Given the description of an element on the screen output the (x, y) to click on. 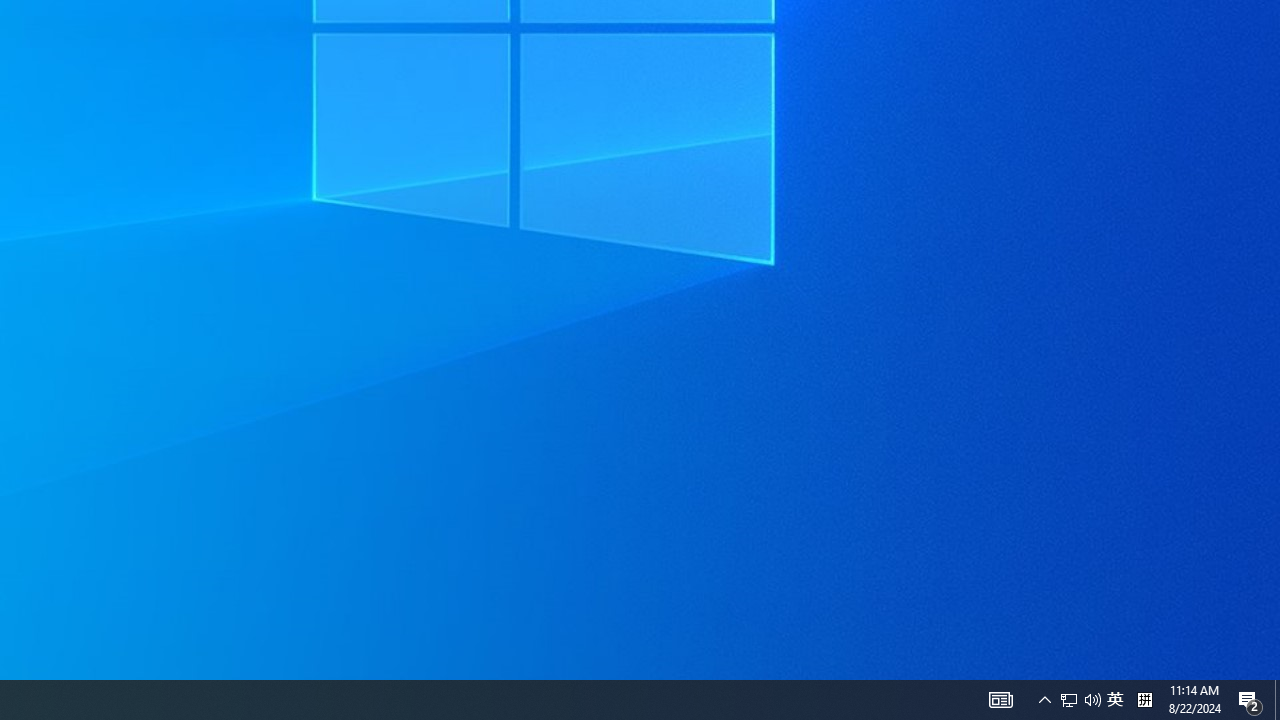
AutomationID: 4105 (1000, 699)
Tray Input Indicator - Chinese (Simplified, China) (1144, 699)
User Promoted Notification Area (1080, 699)
Notification Chevron (1044, 699)
Action Center, 2 new notifications (1250, 699)
Show desktop (1115, 699)
Q2790: 100% (1277, 699)
